Given the description of an element on the screen output the (x, y) to click on. 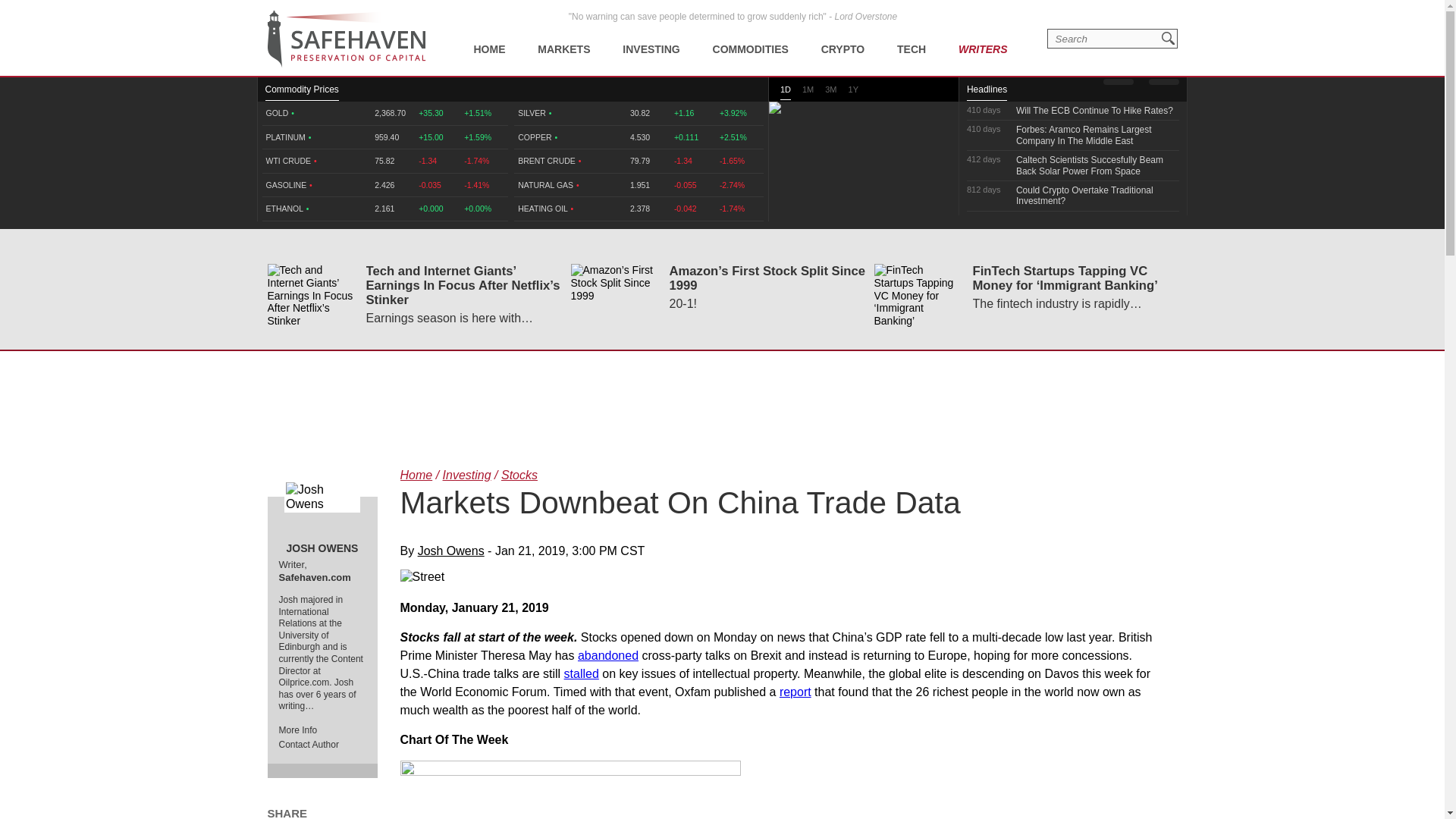
Josh Owens (321, 496)
INVESTING (650, 38)
Headlines (986, 92)
Oil prices - Oilprice.com (345, 38)
COMMODITIES (750, 38)
Street (779, 576)
Commodity Prices (301, 92)
